Given the description of an element on the screen output the (x, y) to click on. 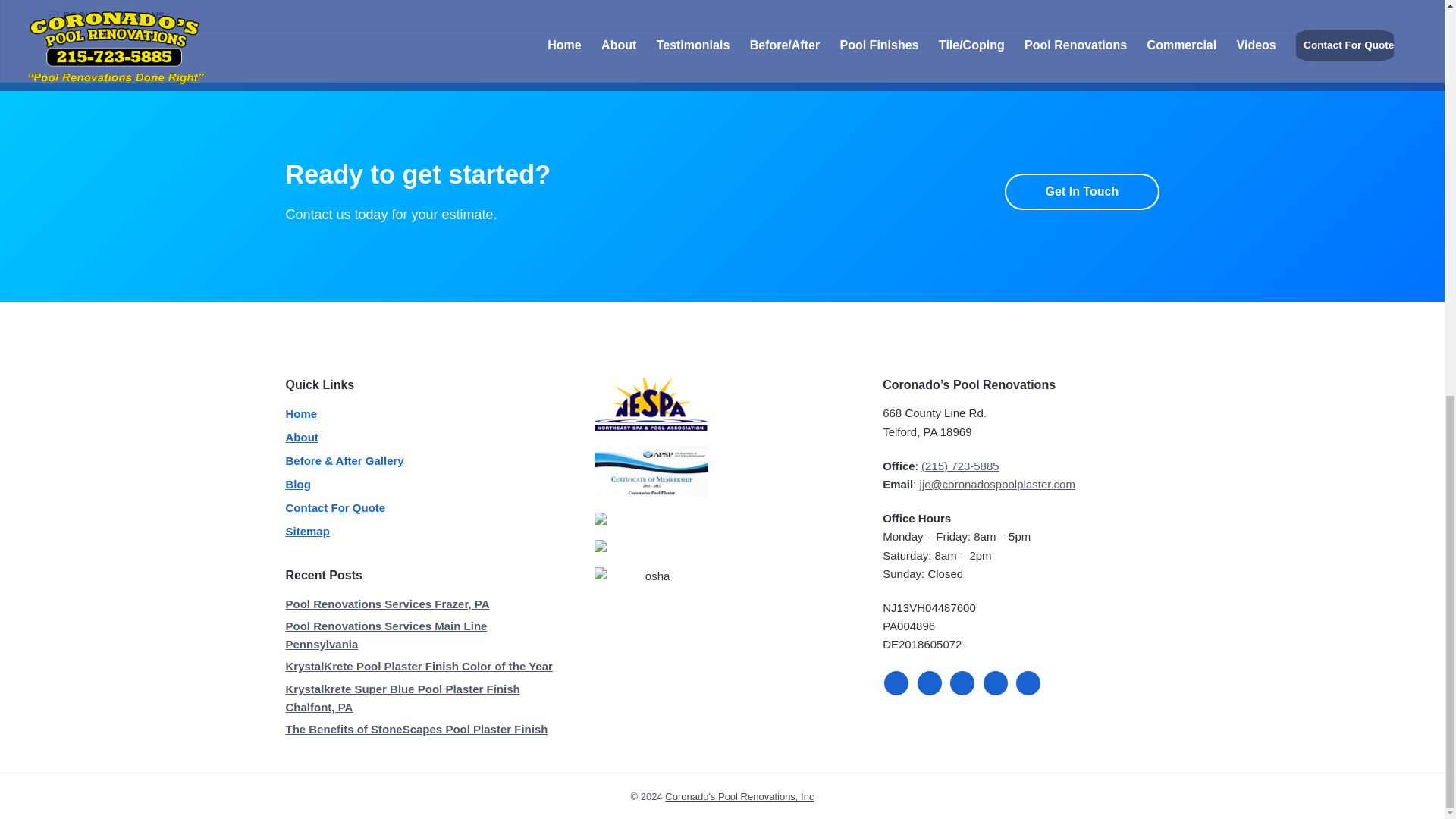
KrystalKrete Pool Plaster Finish Color of the Year (422, 668)
Contact For Quote (335, 507)
About (301, 437)
Blog (297, 484)
Pool Renovations Services Main Line Pennsylvania (422, 637)
Sitemap (307, 531)
POOL RENOVATIONS (114, 15)
Krystalkrete Super Blue Pool Plaster Finish Chalfont, PA (422, 700)
Pool Renovations Services Frazer, PA (422, 605)
Home (301, 413)
